Given the description of an element on the screen output the (x, y) to click on. 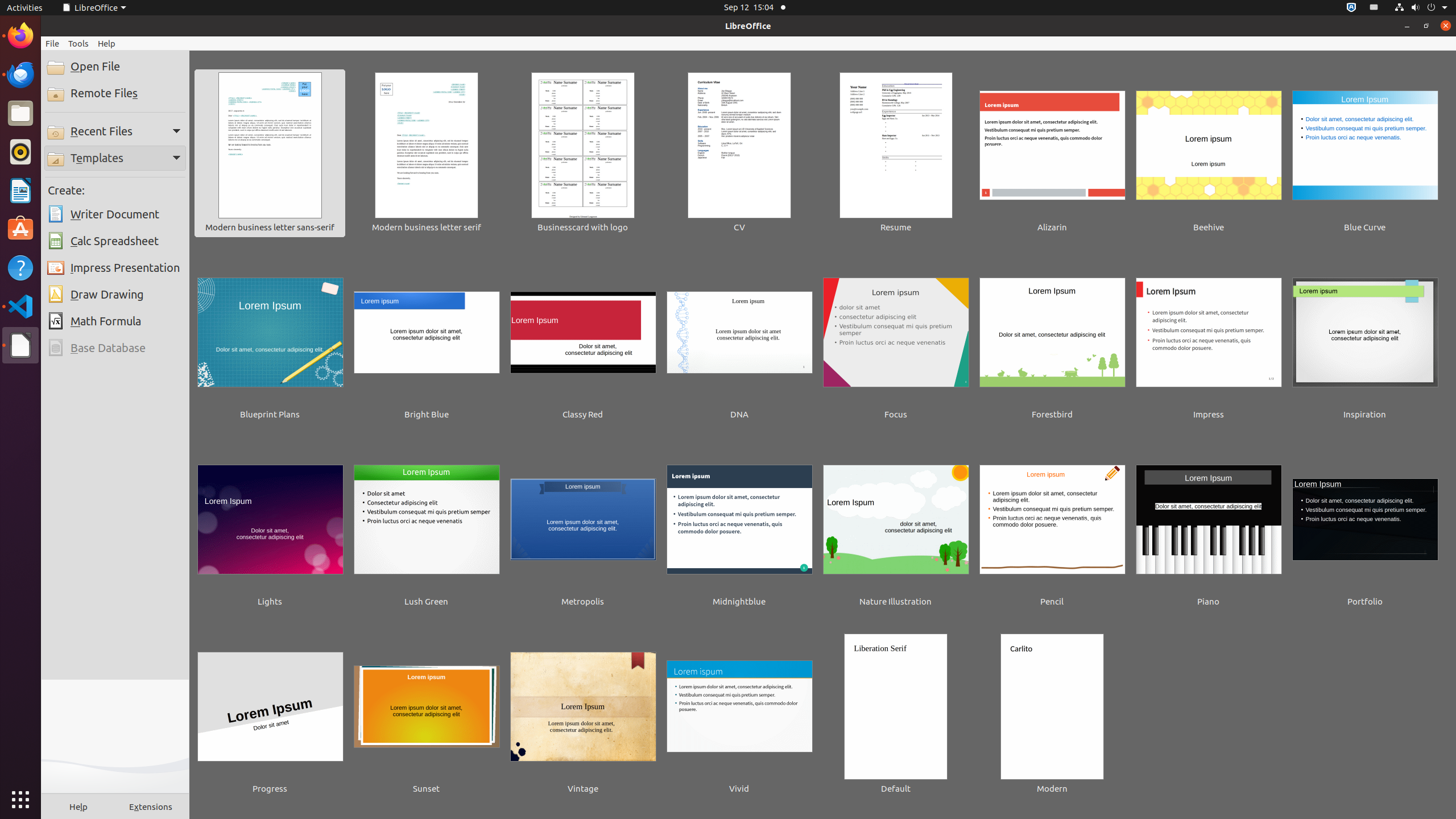
Lush Green Element type: list-item (426, 527)
Classy Red Element type: list-item (582, 340)
:1.21/StatusNotifierItem Element type: menu (1373, 7)
Inspiration Element type: list-item (1364, 340)
File Element type: menu (51, 43)
